Given the description of an element on the screen output the (x, y) to click on. 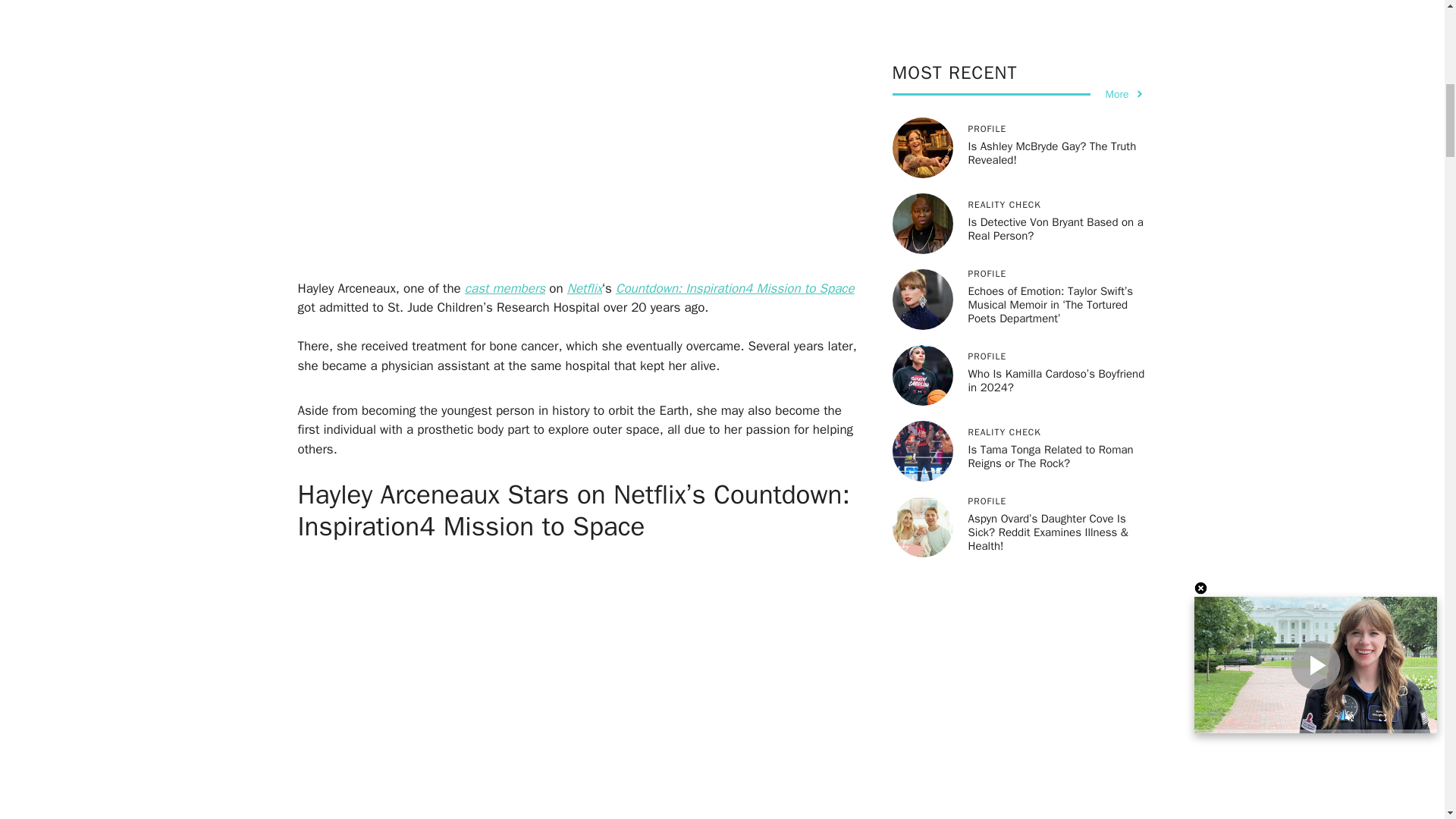
Countdown: Inspiration4 Mission to Space (734, 288)
Netflix (584, 288)
cast members (504, 288)
